Given the description of an element on the screen output the (x, y) to click on. 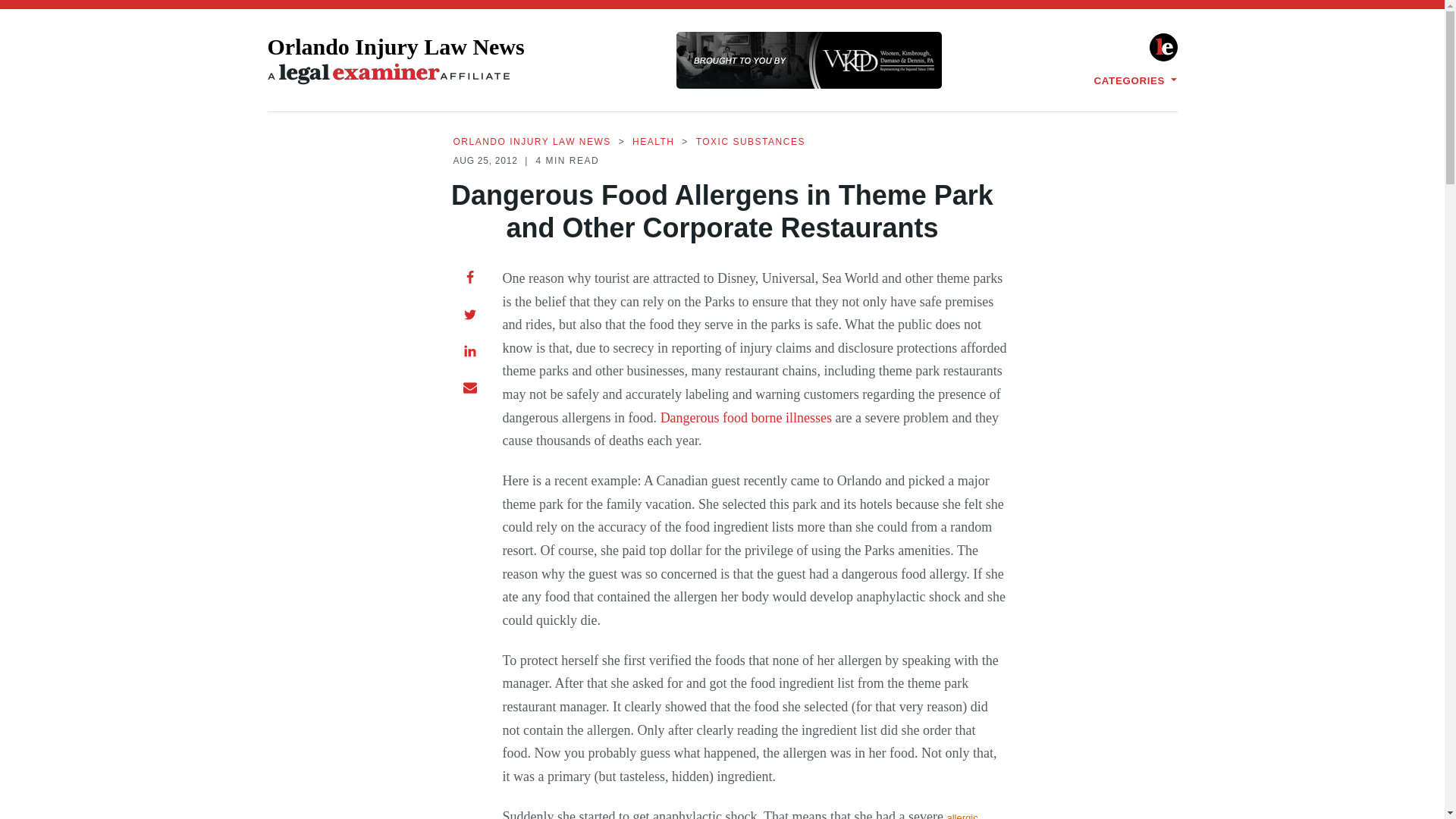
Dangerous food borne illnesses (746, 417)
TOXIC SUBSTANCES (750, 142)
Orlando Injury Law News (395, 60)
ORLANDO INJURY LAW NEWS (531, 142)
HEALTH (652, 142)
allergic reaction (739, 815)
A Legal Examiner Affiliate (387, 74)
